Given the description of an element on the screen output the (x, y) to click on. 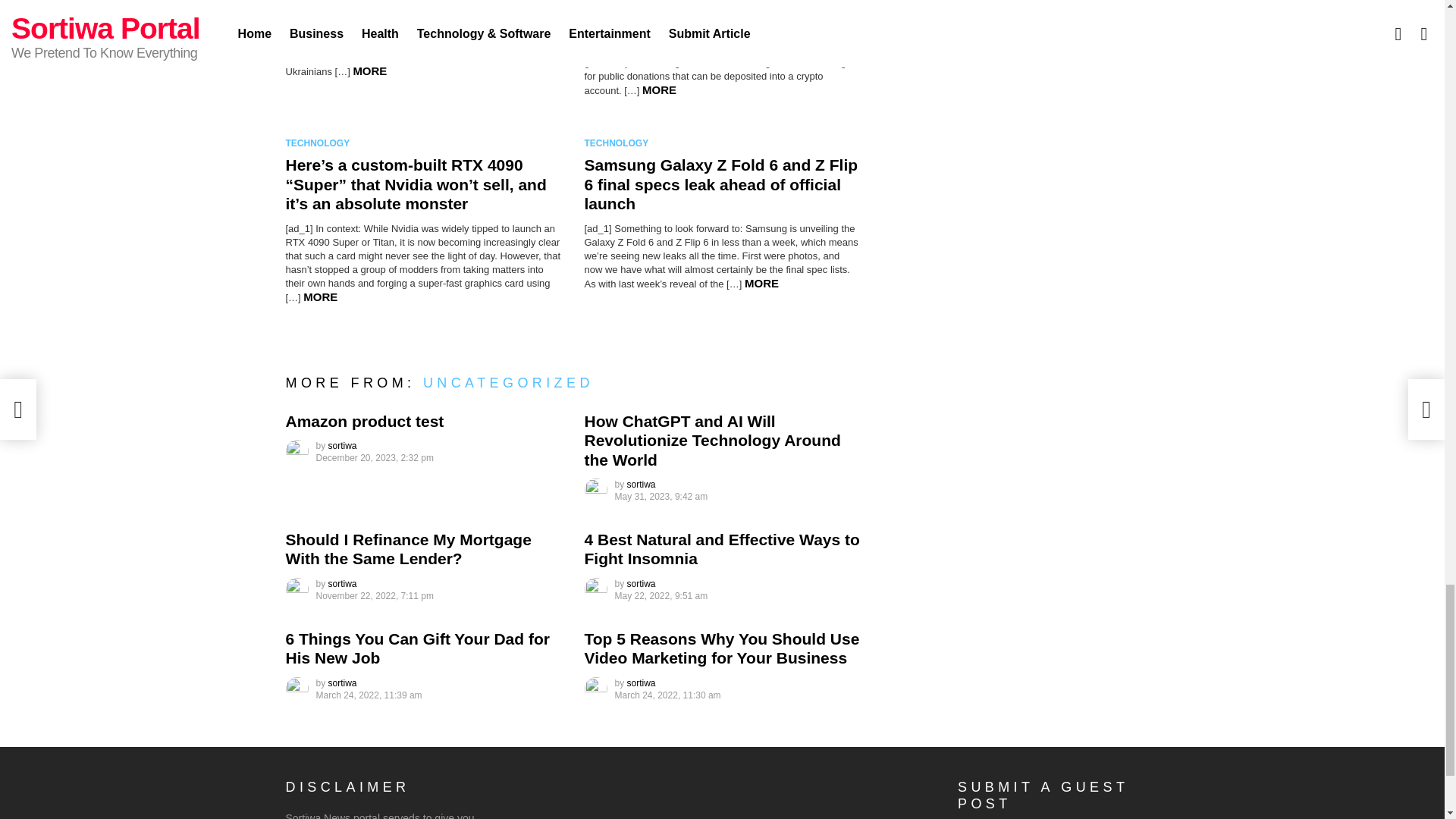
Posts by sortiwa (342, 583)
Posts by sortiwa (342, 683)
Posts by sortiwa (342, 445)
TECHNOLOGY (320, 142)
Posts by sortiwa (641, 484)
Posts by sortiwa (641, 583)
MORE (659, 89)
Posts by sortiwa (641, 683)
MORE (369, 70)
